Given the description of an element on the screen output the (x, y) to click on. 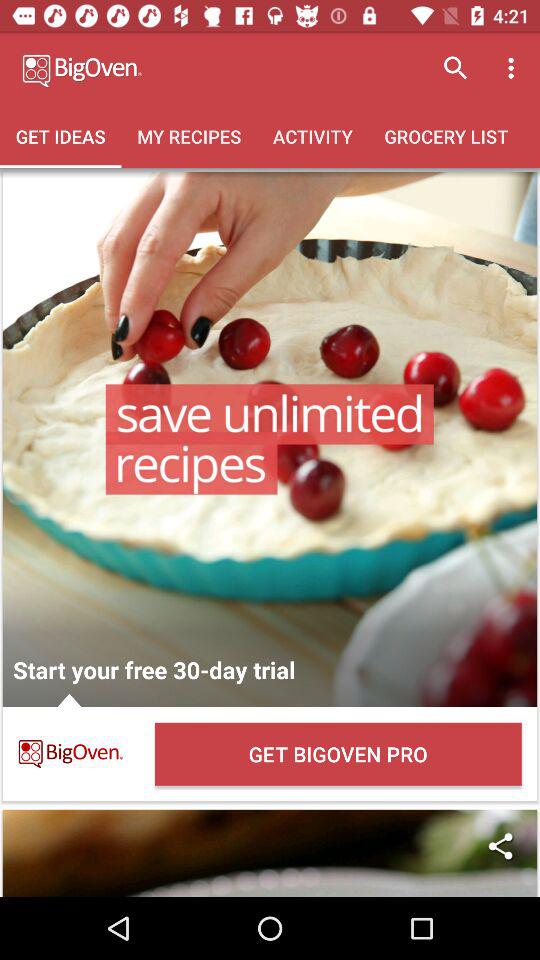
access recipes (269, 439)
